Given the description of an element on the screen output the (x, y) to click on. 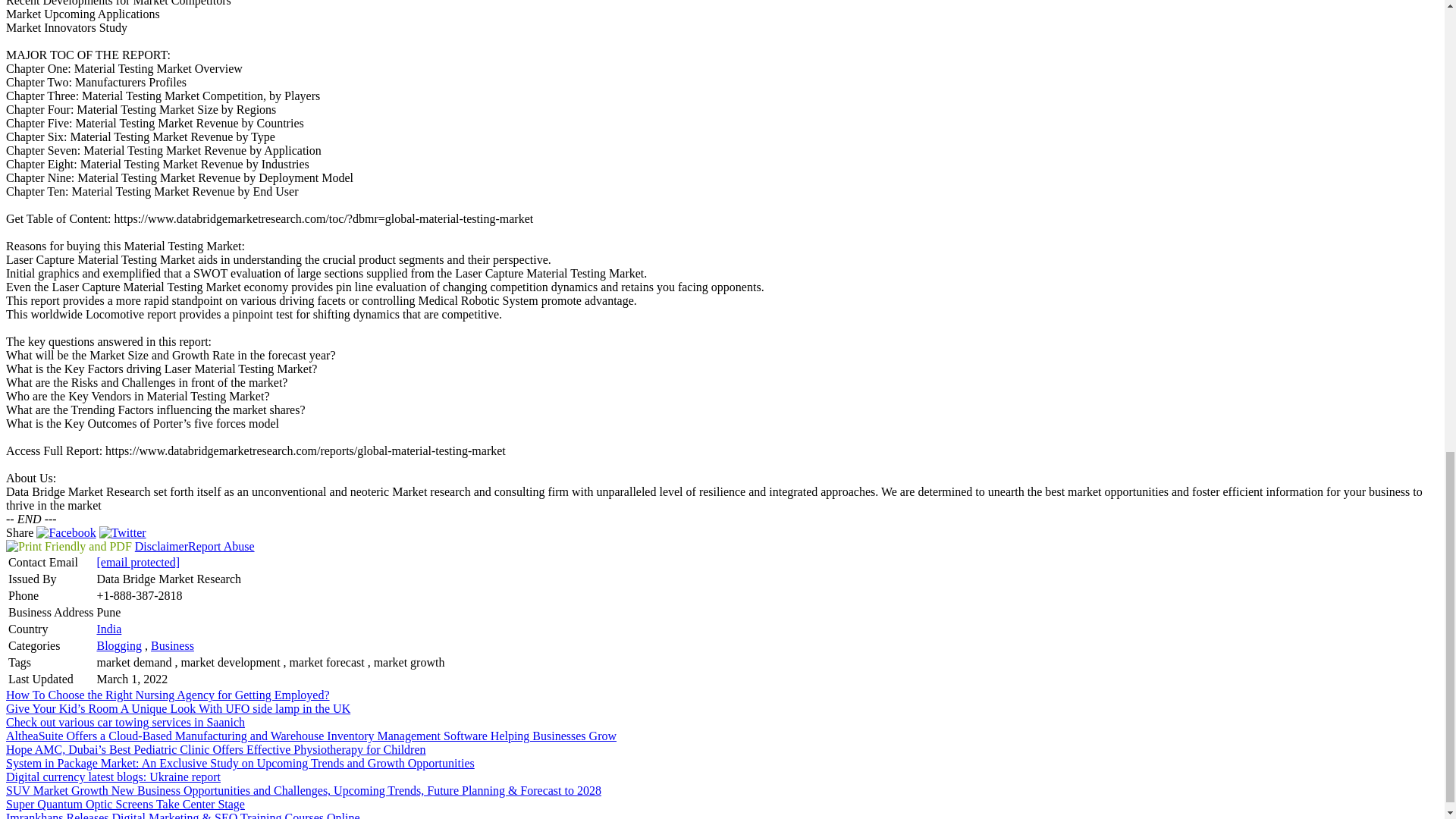
How To Choose the Right Nursing Agency for Getting Employed? (167, 694)
Blogging (118, 645)
Check out various car towing services in Saanich (124, 721)
India (108, 628)
Super Quantum Optic Screens Take Center Stage (124, 803)
Disclaimer (161, 545)
Business (172, 645)
Digital currency latest blogs: Ukraine report (113, 776)
Printer Friendly and PDF (68, 545)
Report Abuse (220, 545)
